Given the description of an element on the screen output the (x, y) to click on. 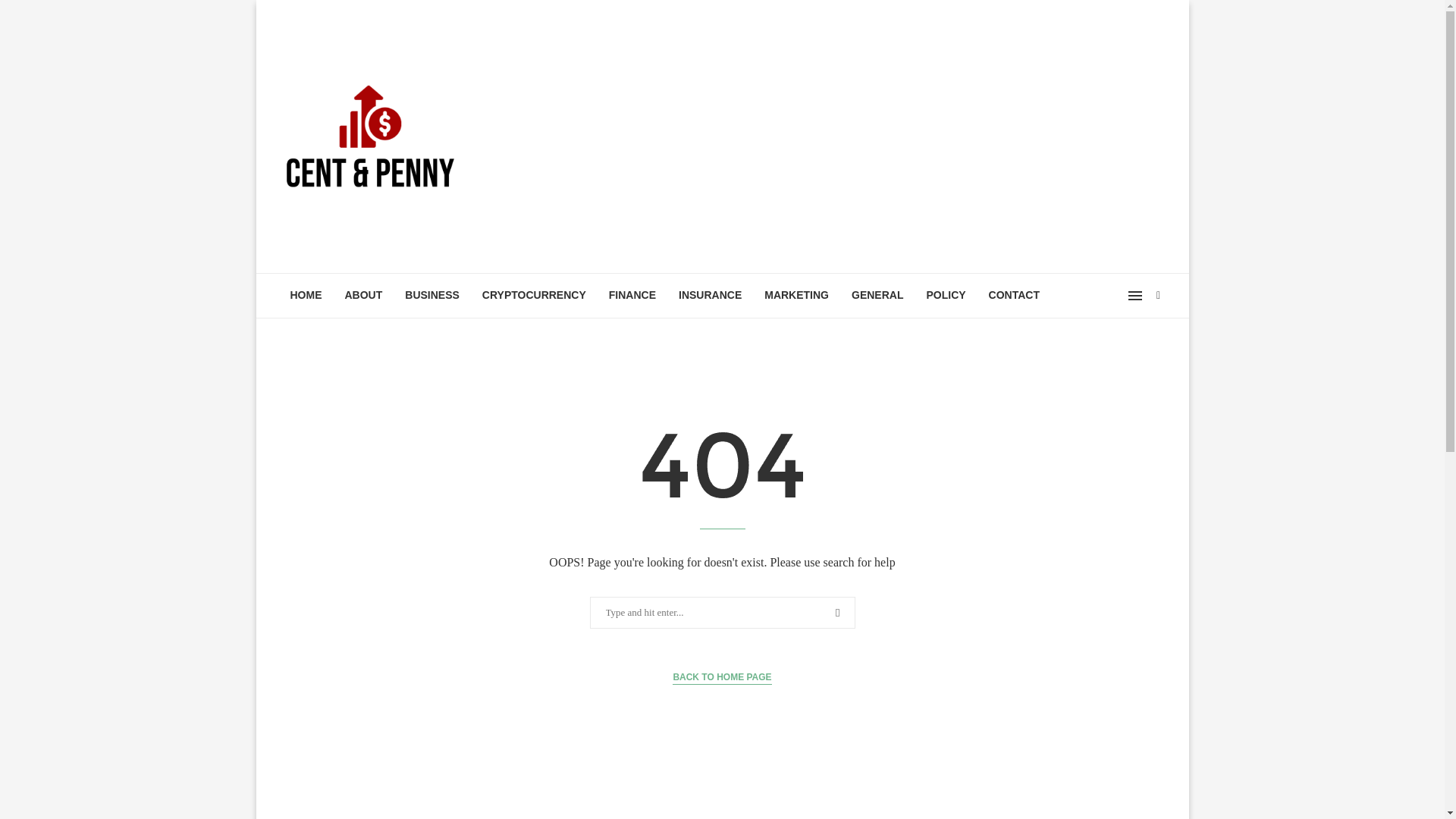
POLICY (945, 295)
FINANCE (631, 295)
INSURANCE (709, 295)
GENERAL (877, 295)
Advertisement (874, 136)
HOME (306, 295)
ABOUT (363, 295)
BACK TO HOME PAGE (721, 677)
BUSINESS (431, 295)
Search (35, 15)
